Given the description of an element on the screen output the (x, y) to click on. 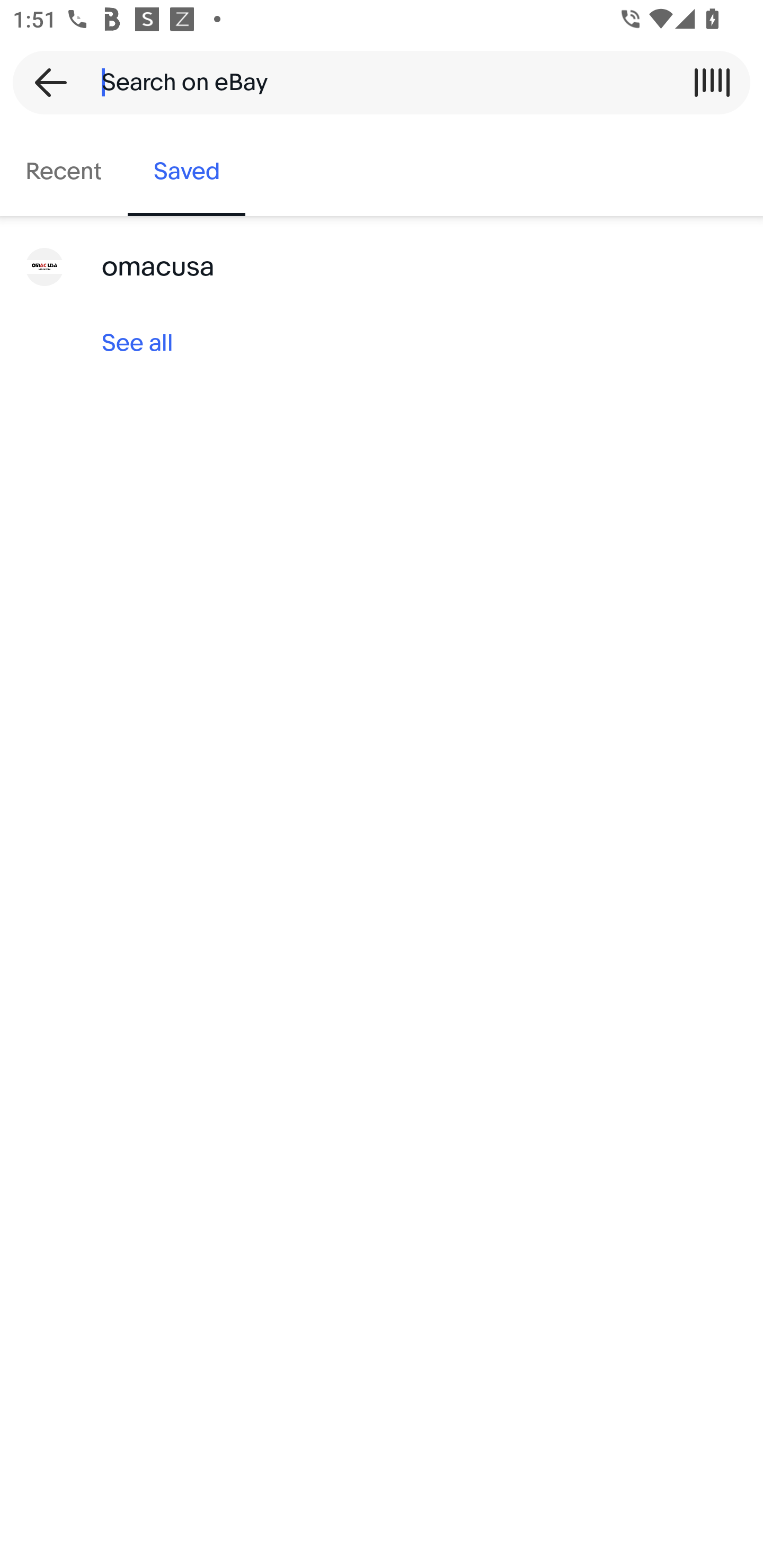
Back (44, 82)
Scan a barcode (711, 82)
Search on eBay (375, 82)
Recent, tab 1 of 2 Recent (63, 171)
User Search omacusa: omacusa (381, 266)
See all See all members (381, 343)
